Given the description of an element on the screen output the (x, y) to click on. 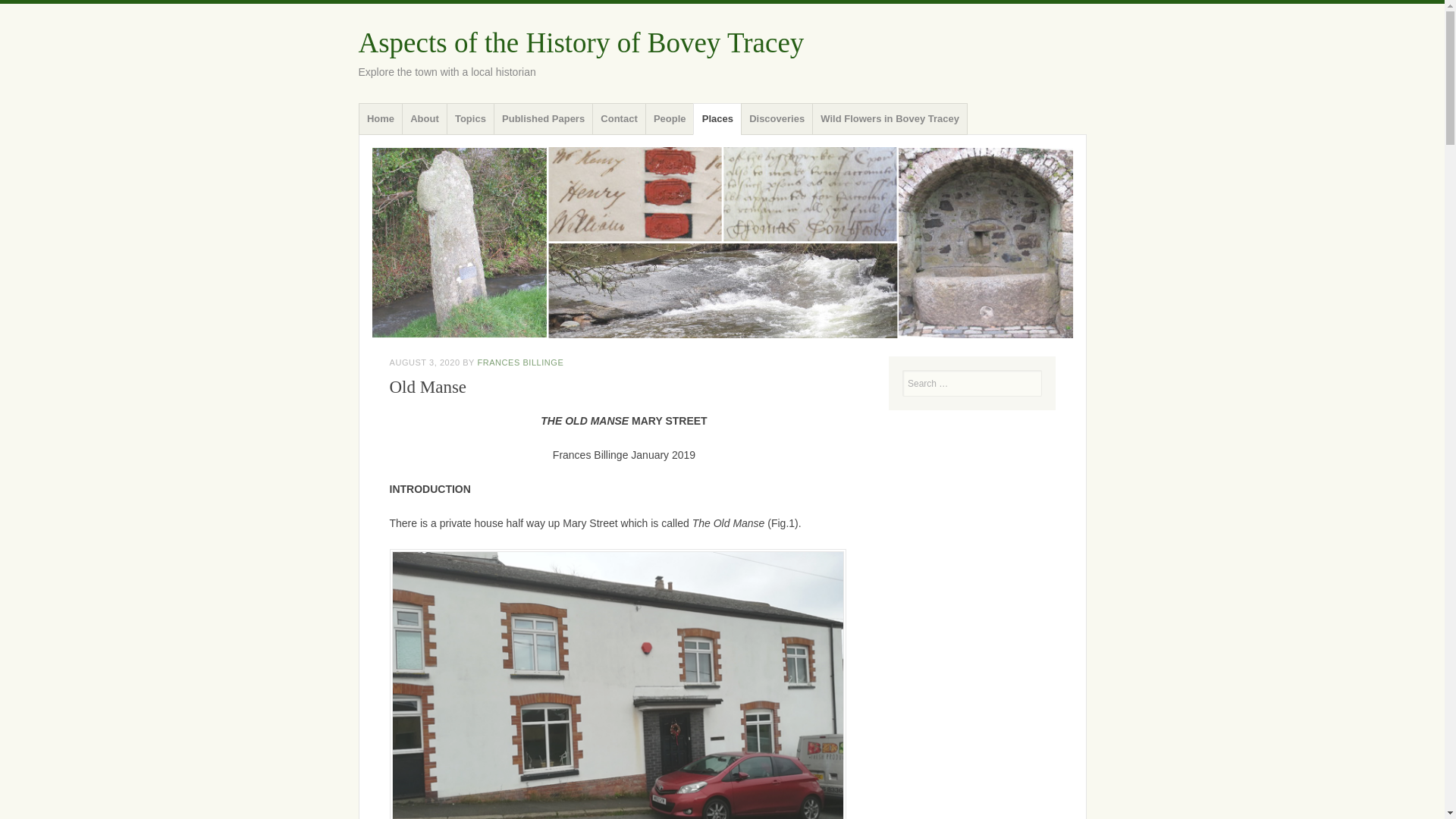
Aspects of the History of Bovey Tracey (580, 42)
8:57 pm (425, 361)
Contact (619, 119)
Home (380, 119)
People (669, 119)
Topics (470, 119)
Published Papers (543, 119)
Aspects of the History of Bovey Tracey (580, 42)
View all posts by Frances Billinge (520, 361)
About (423, 119)
